Given the description of an element on the screen output the (x, y) to click on. 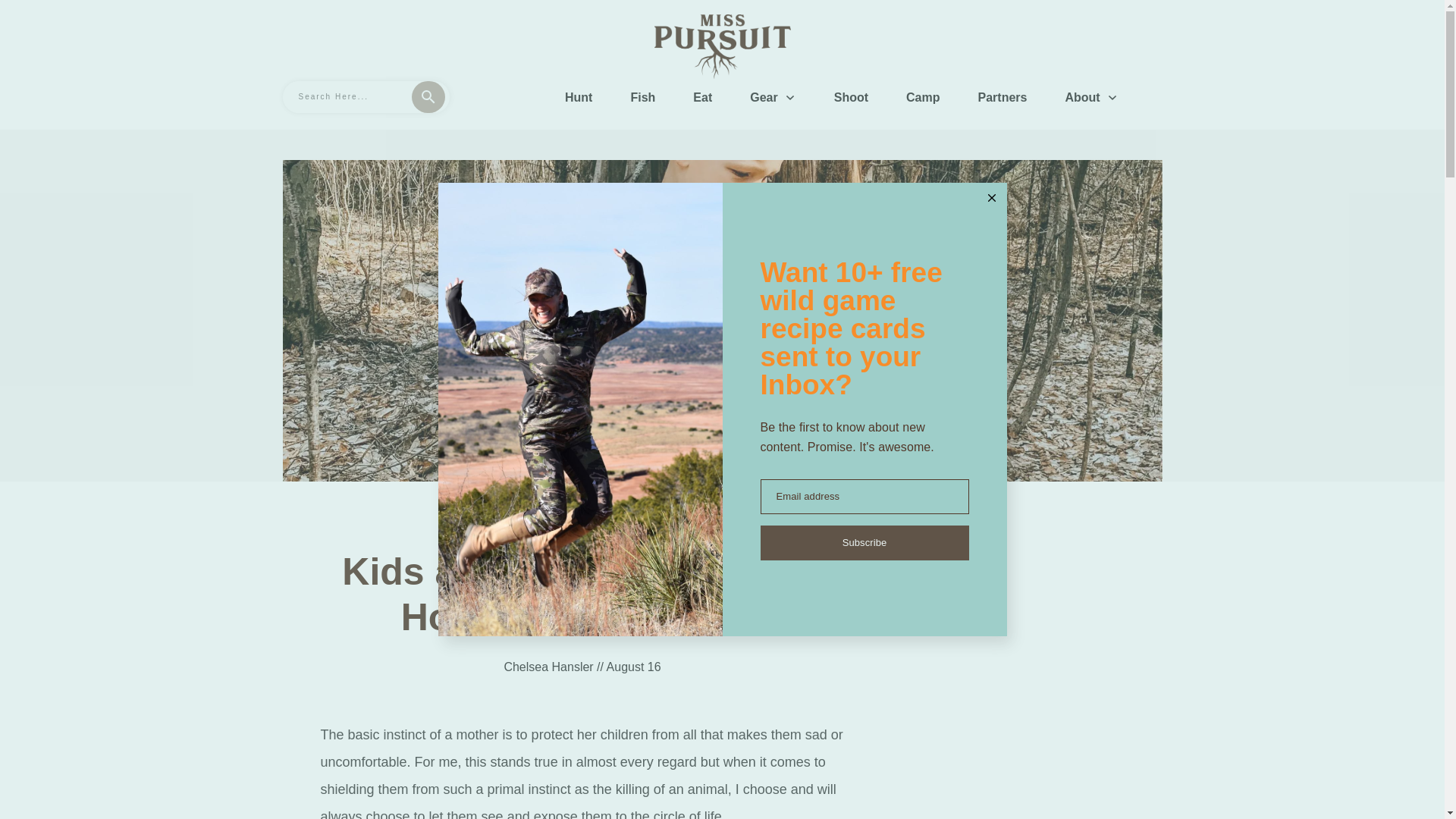
Partners (1002, 97)
Shoot (850, 97)
Camp (922, 97)
Eat (702, 97)
About (1091, 97)
Hunt (578, 97)
Gear (771, 97)
Subscribe (864, 542)
Fish (642, 97)
